Given the description of an element on the screen output the (x, y) to click on. 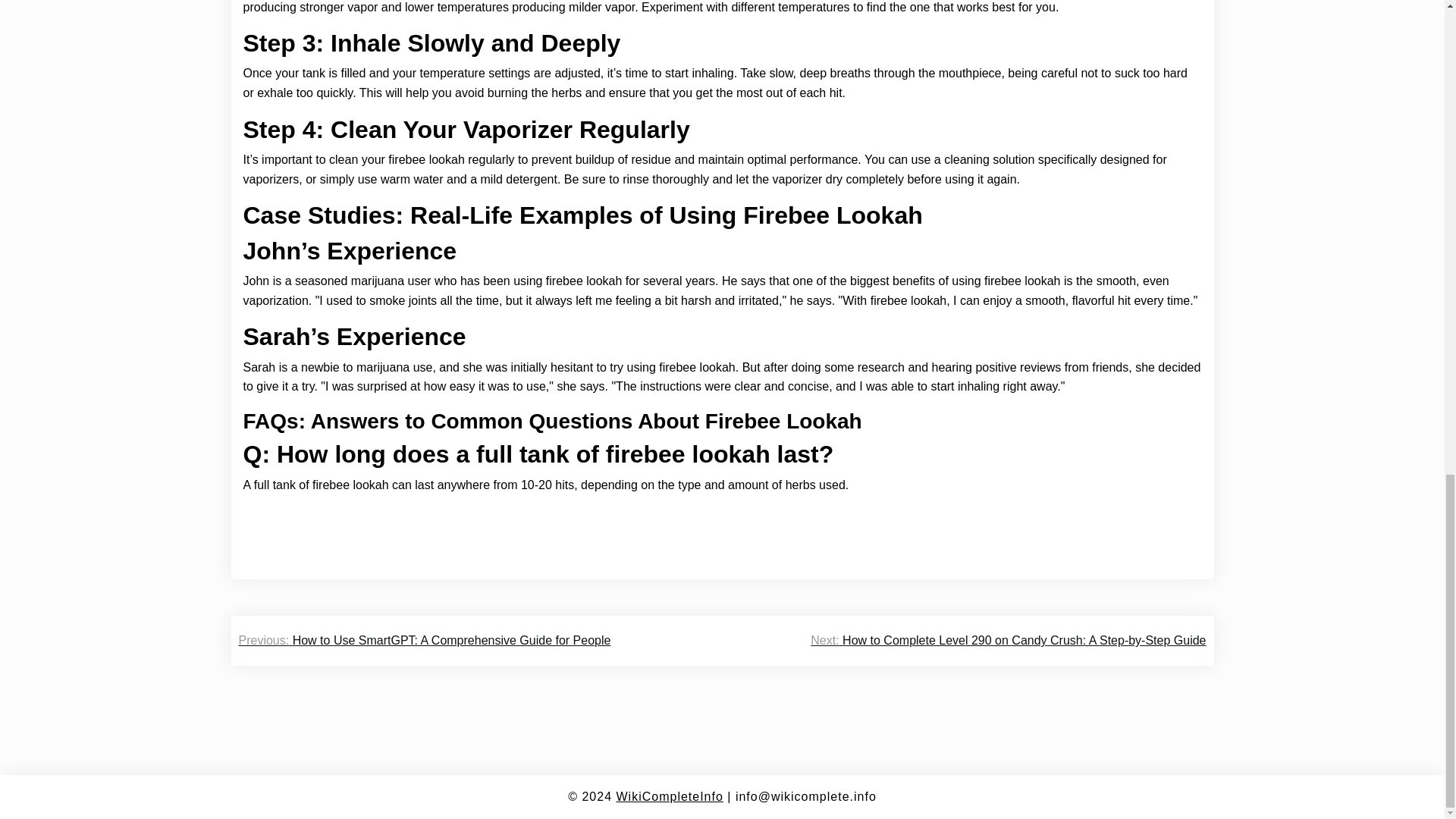
WikiCompleteInfo (668, 796)
